Given the description of an element on the screen output the (x, y) to click on. 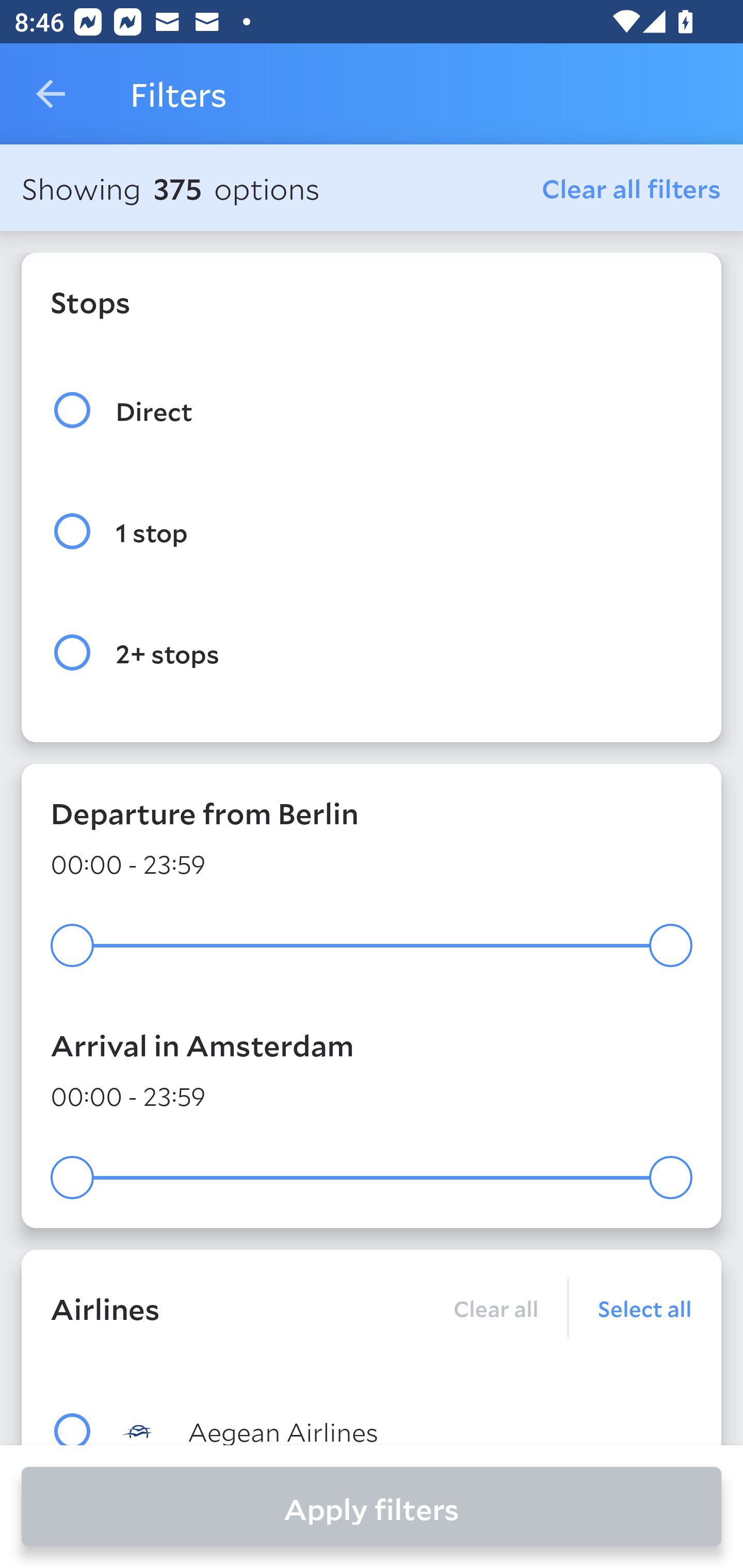
Navigate up (50, 93)
Clear all filters (631, 187)
Direct (371, 409)
1 stop (371, 531)
2+ stops (371, 652)
Clear all (495, 1307)
Select all (630, 1307)
Aegean Airlines (407, 1429)
Apply filters (371, 1506)
